Given the description of an element on the screen output the (x, y) to click on. 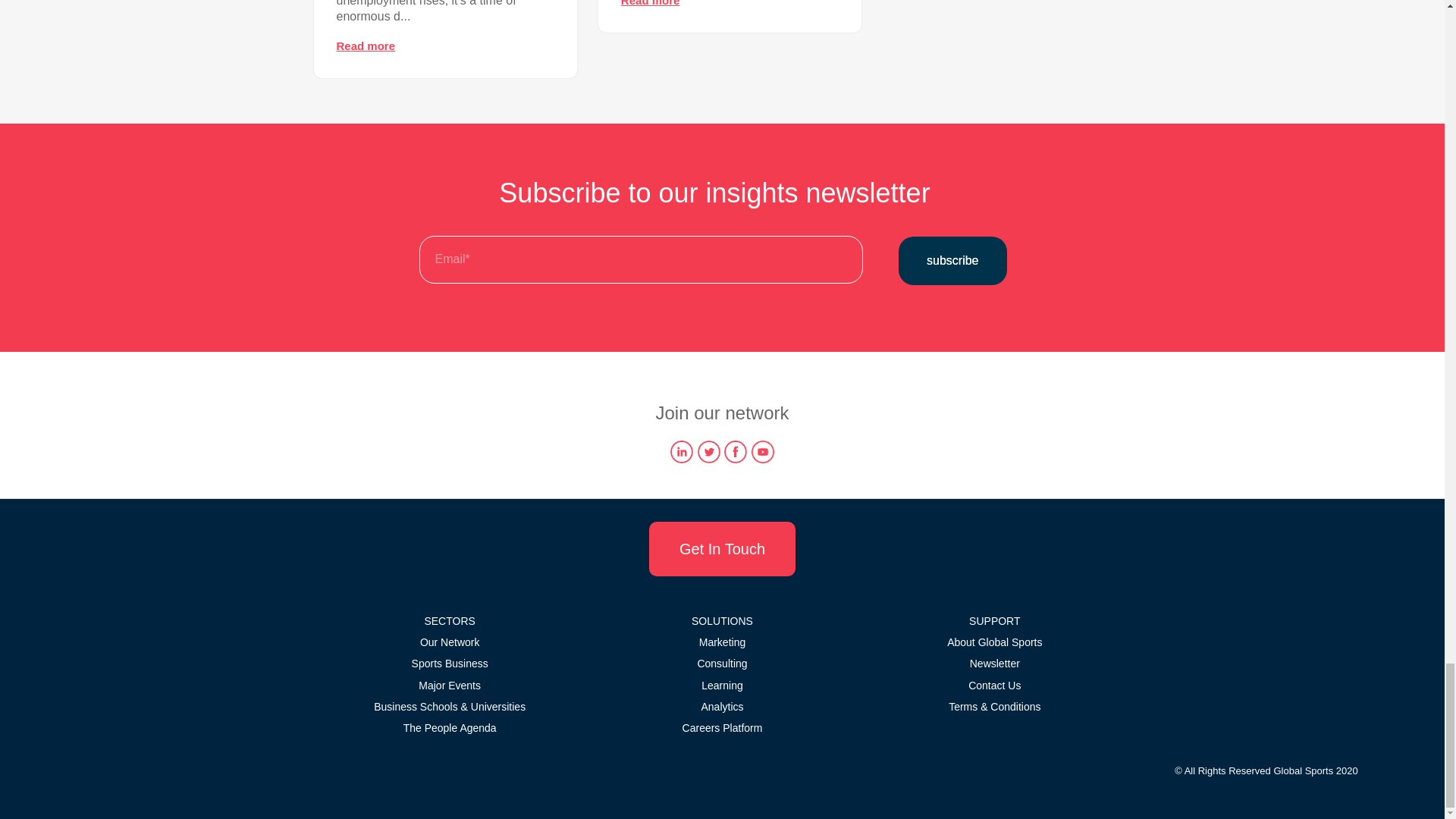
Subscribe (952, 260)
Read more (366, 45)
Read more (650, 3)
Subscribe (952, 260)
